Given the description of an element on the screen output the (x, y) to click on. 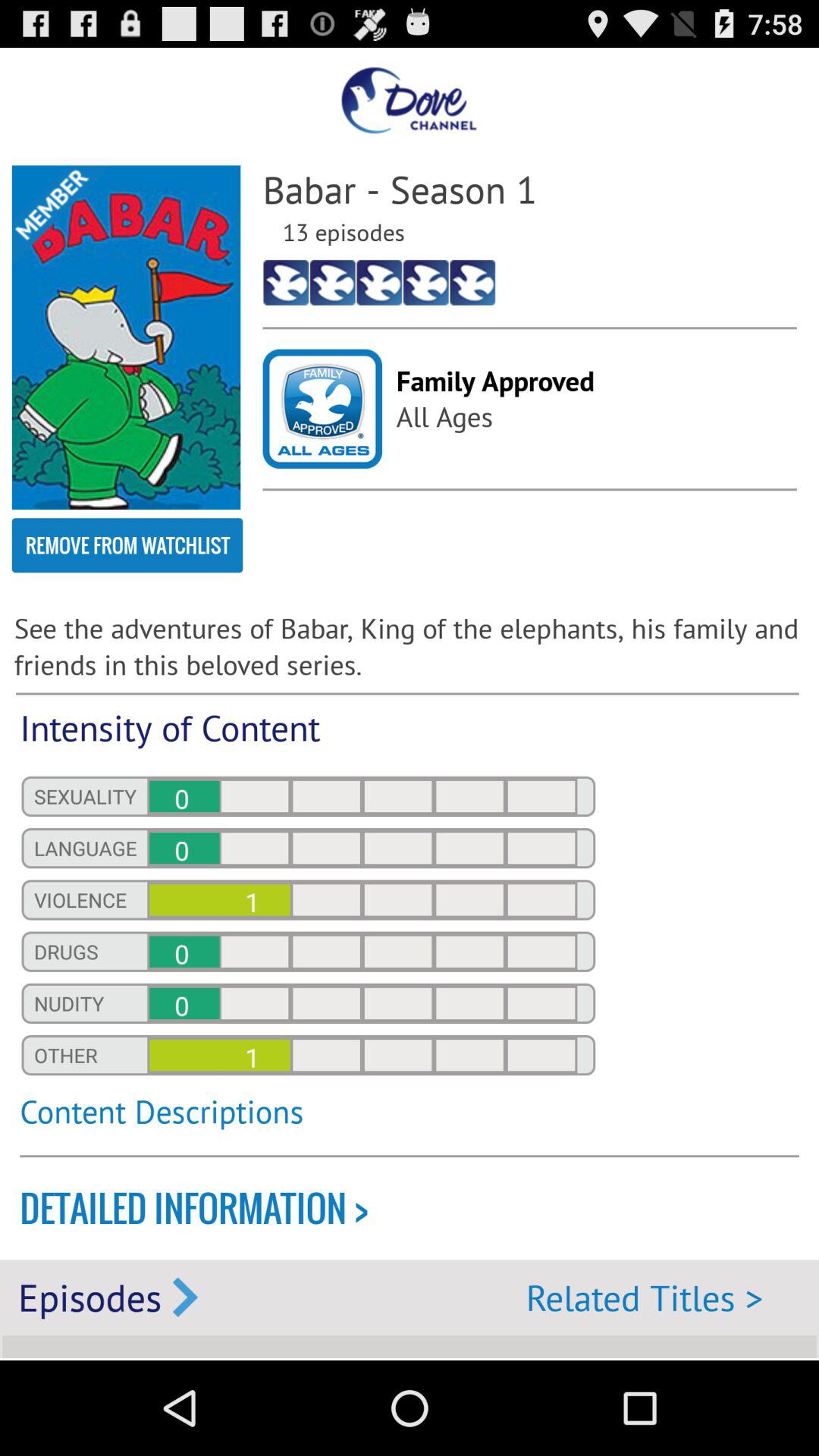
turn off icon to the left of the babar - season 1 icon (125, 337)
